Given the description of an element on the screen output the (x, y) to click on. 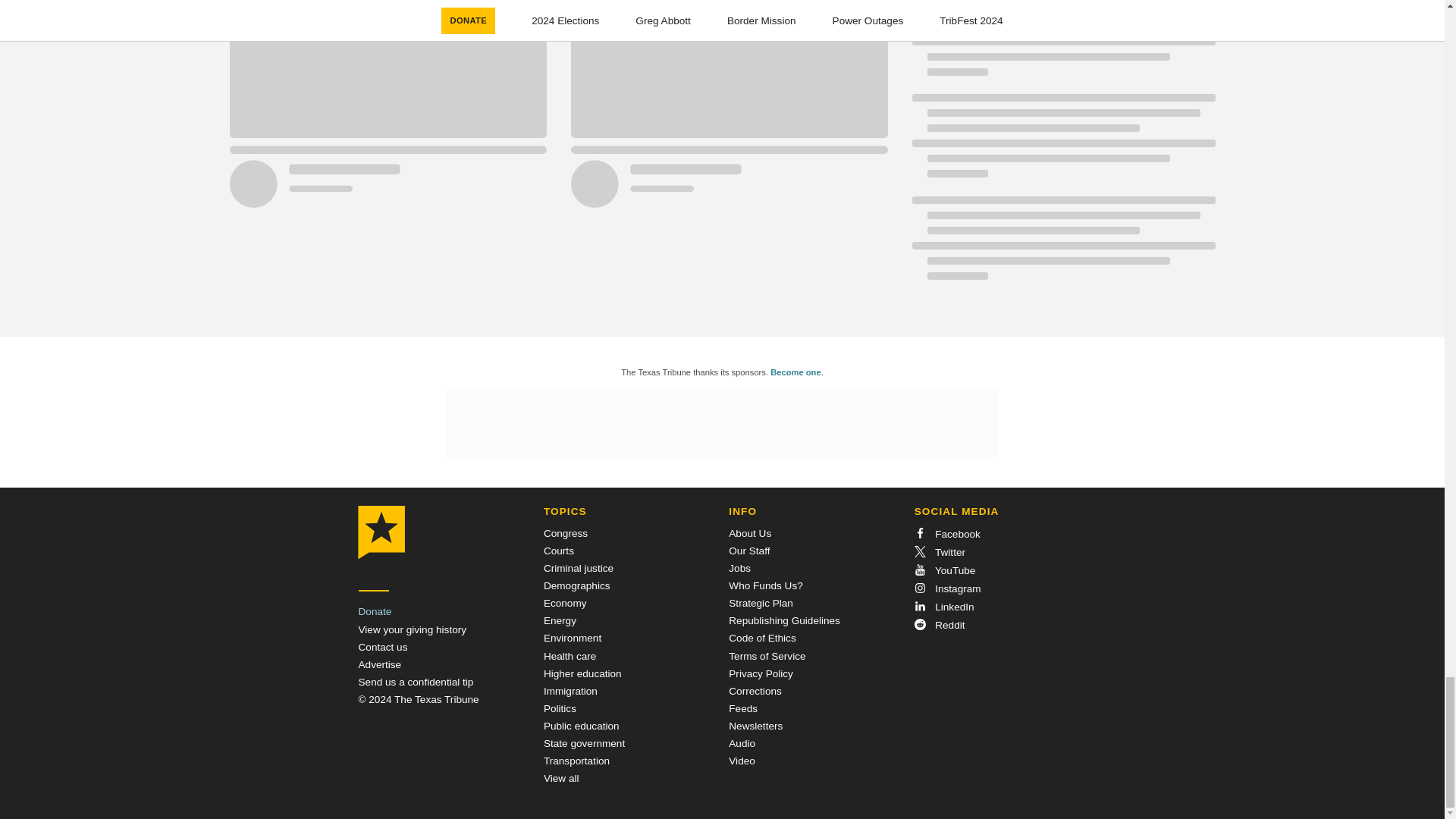
Code of Ethics (761, 637)
Corrections (755, 690)
Send a Tip (415, 681)
Terms of Service (767, 655)
Privacy Policy (761, 673)
Audio (742, 743)
Strategic Plan (761, 603)
Advertise (379, 664)
Feeds (743, 708)
Newsletters (756, 726)
About Us (750, 532)
Contact us (382, 646)
Who Funds Us? (765, 585)
Republishing Guidelines (784, 620)
Donate (374, 611)
